Given the description of an element on the screen output the (x, y) to click on. 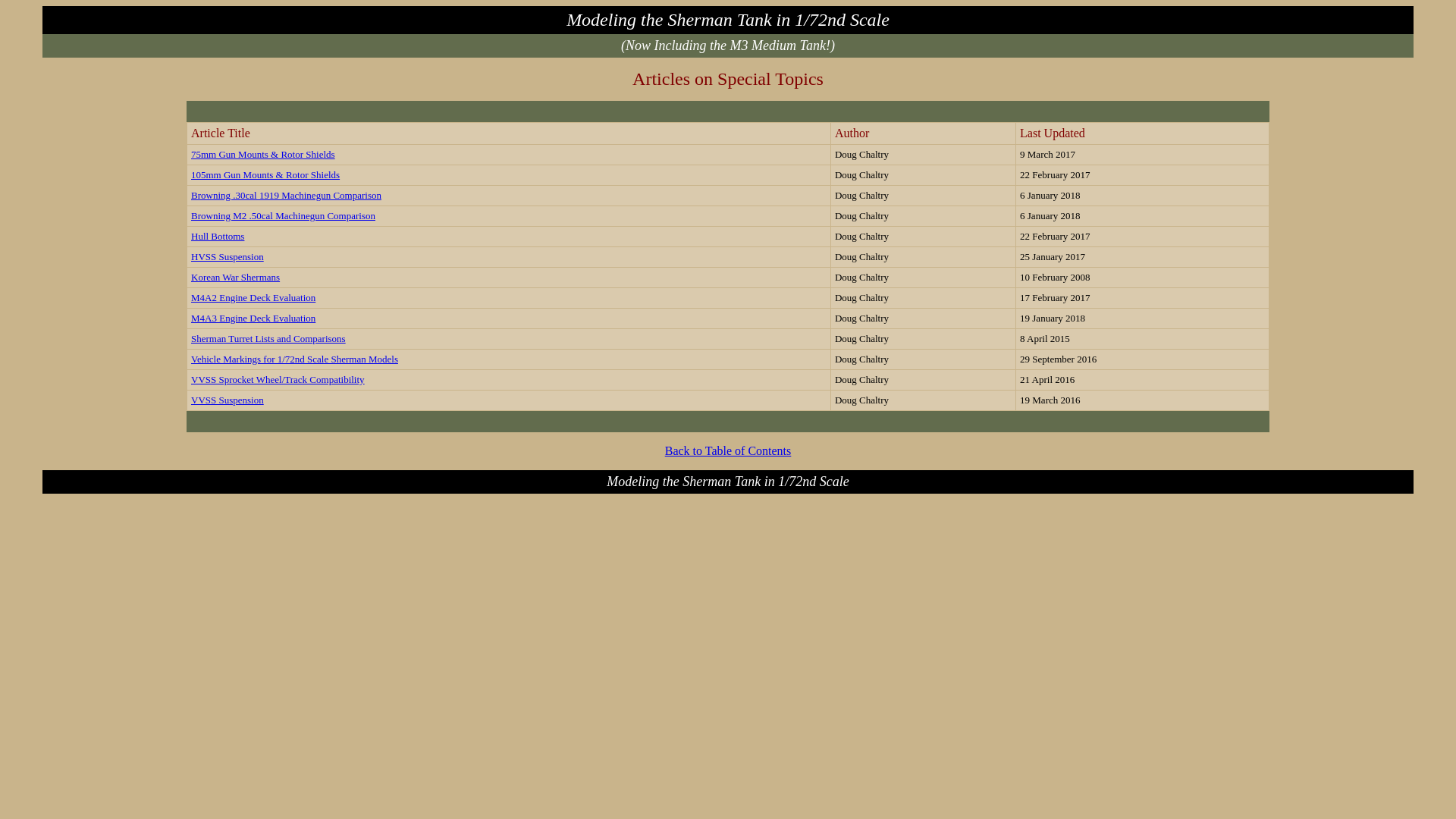
VVSS Sprocket Wheel/Track Compatibility Element type: text (277, 378)
Hull Bottoms Element type: text (217, 235)
HVSS Suspension Element type: text (227, 255)
VVSS Suspension Element type: text (227, 398)
M4A3 Engine Deck Evaluation Element type: text (253, 316)
Back to Table of Contents Element type: text (728, 450)
Vehicle Markings for 1/72nd Scale Sherman Models Element type: text (294, 357)
Browning M2 .50cal Machinegun Comparison Element type: text (283, 214)
Sherman Turret Lists and Comparisons Element type: text (268, 337)
75mm Gun Mounts & Rotor Shields Element type: text (263, 153)
Korean War Shermans Element type: text (235, 275)
M4A2 Engine Deck Evaluation Element type: text (253, 296)
Browning .30cal 1919 Machinegun Comparison Element type: text (286, 194)
105mm Gun Mounts & Rotor Shields Element type: text (265, 173)
